Given the description of an element on the screen output the (x, y) to click on. 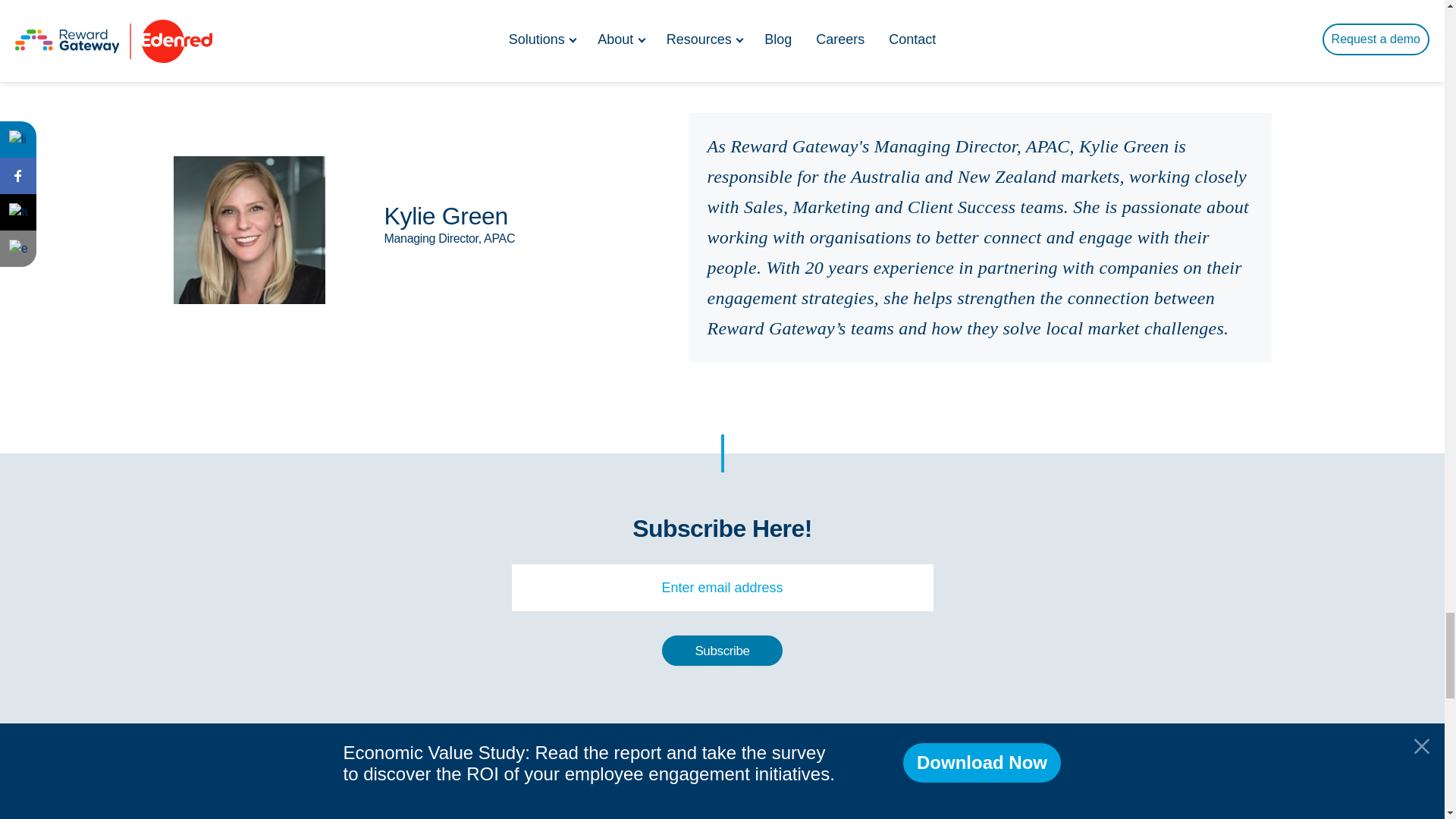
Subscribe (721, 650)
